Given the description of an element on the screen output the (x, y) to click on. 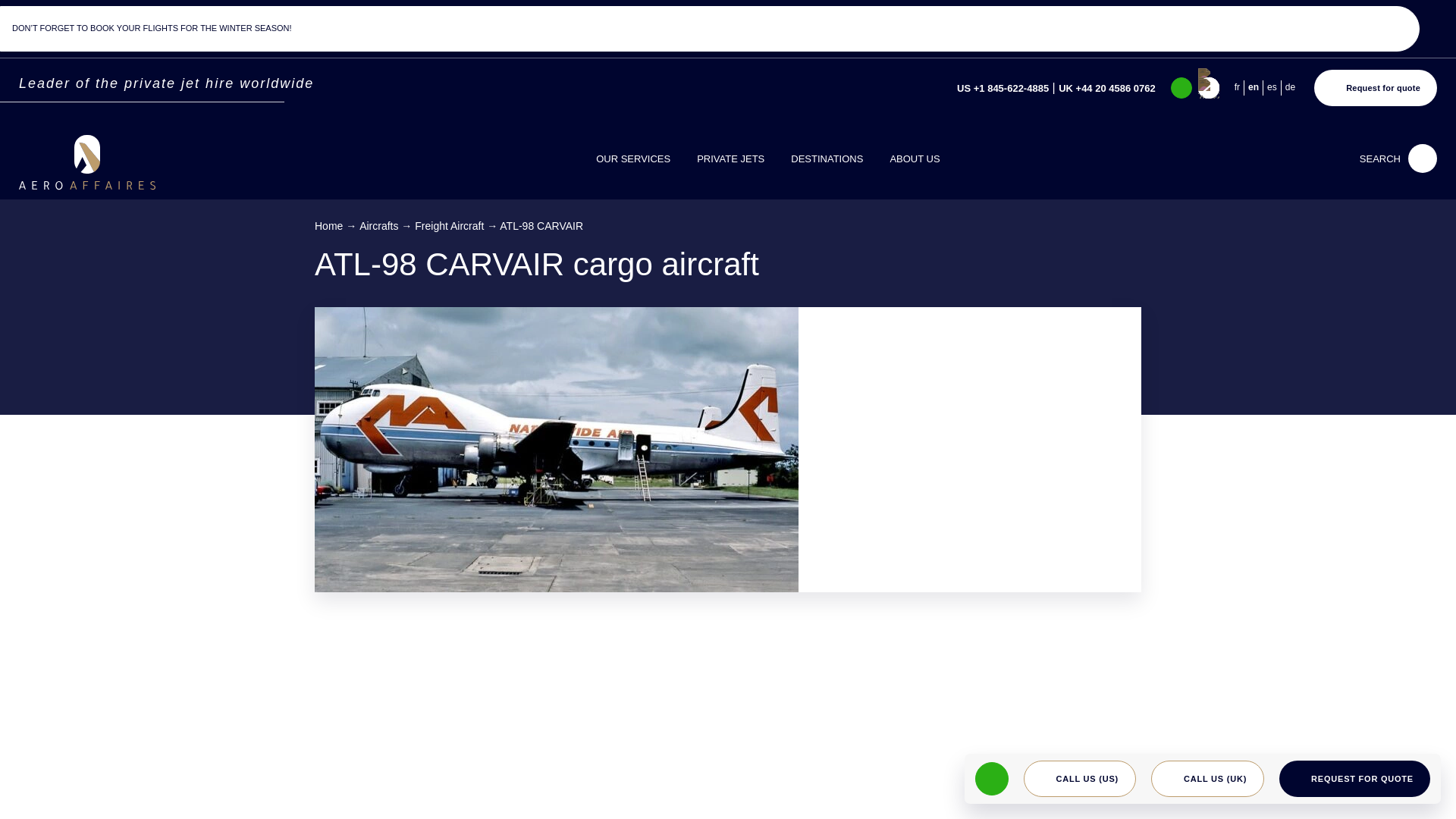
AEROAFFAIRES - Accueil (86, 162)
en (1255, 87)
Aller au contenu (41, 25)
es (1273, 87)
REQUEST FOR QUOTE (1354, 778)
de (1291, 87)
Request for quote (1375, 87)
Search (1391, 74)
